Given the description of an element on the screen output the (x, y) to click on. 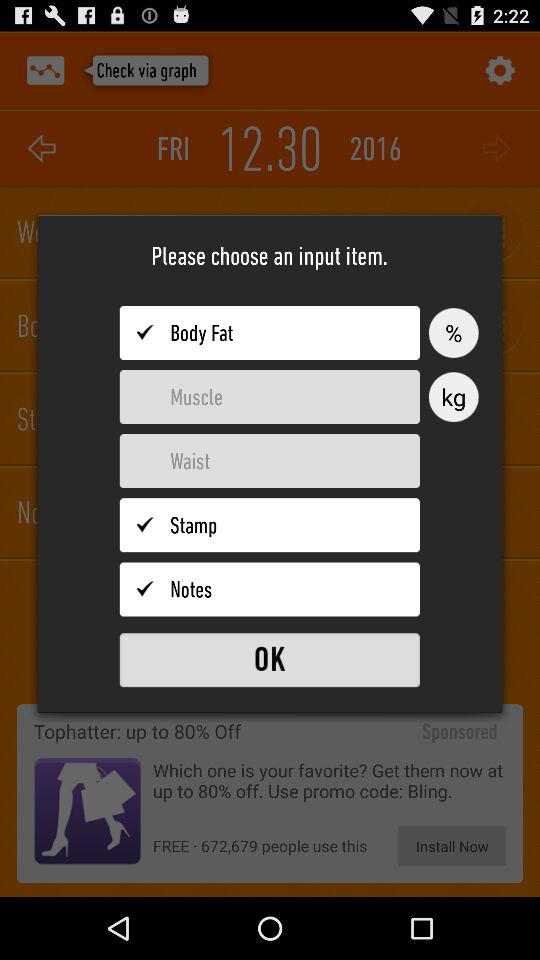
turn off the kg (453, 397)
